Given the description of an element on the screen output the (x, y) to click on. 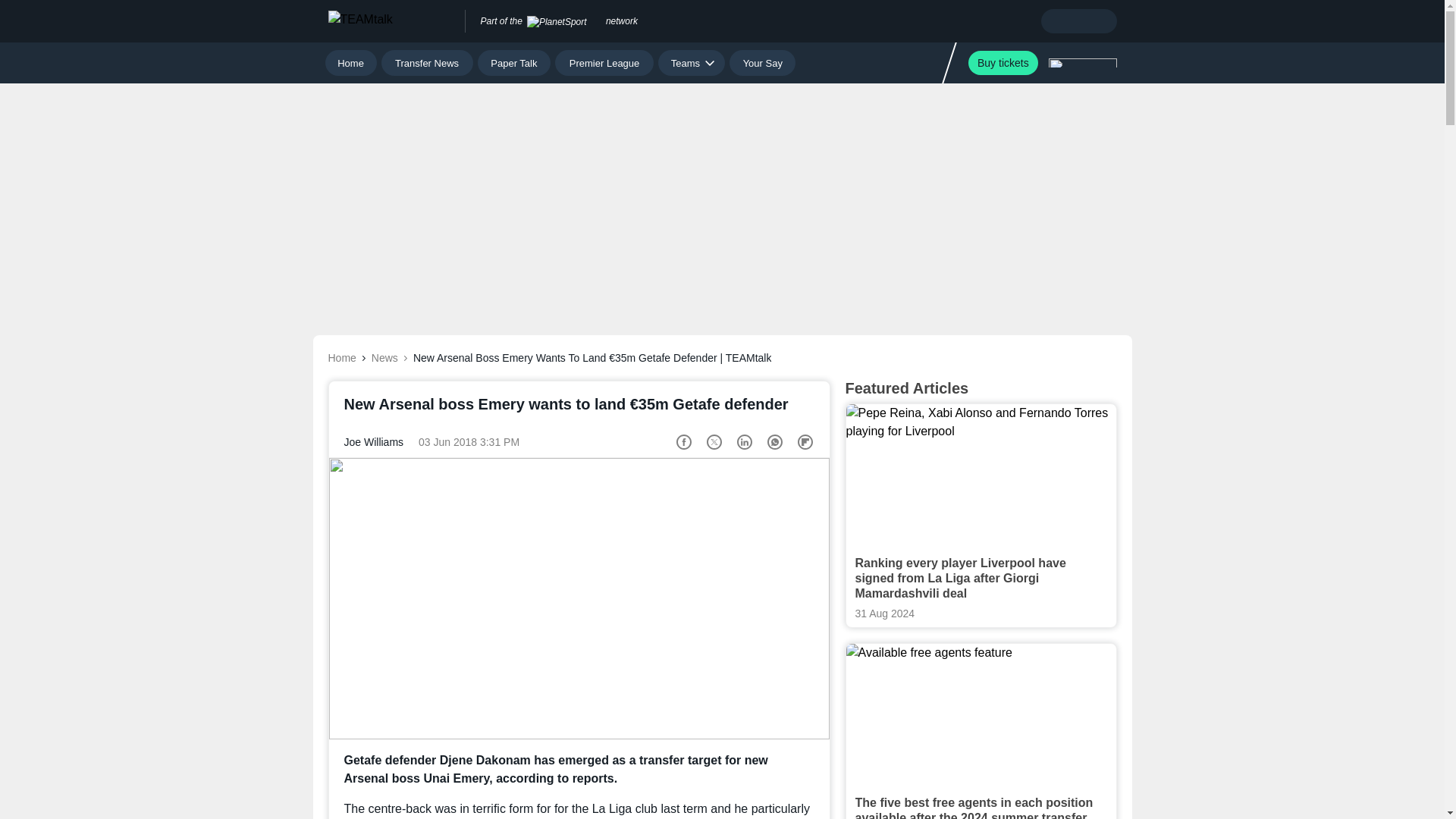
Paper Talk (514, 62)
Buy tickets (1003, 62)
Teams (691, 62)
Home (349, 62)
Your Say (761, 62)
Premier League (603, 62)
Transfer News (427, 62)
